Given the description of an element on the screen output the (x, y) to click on. 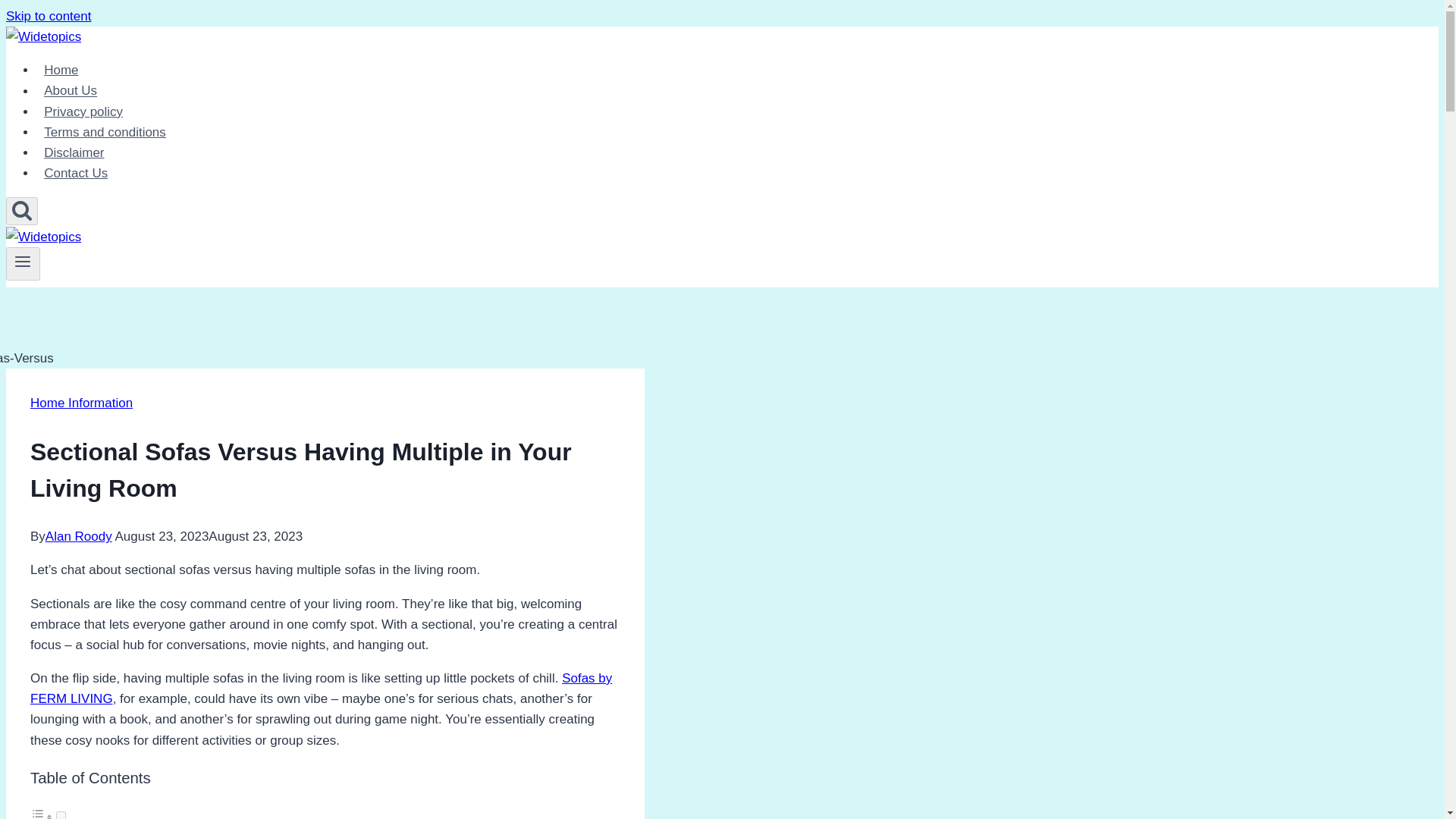
Terms and conditions (104, 132)
Home Information (81, 402)
Skip to content (47, 16)
Privacy policy (83, 111)
Home (60, 70)
Sofas by FERM LIVING (320, 687)
Alan Roody (78, 536)
Search (21, 209)
Toggle Menu (22, 263)
Disclaimer (74, 152)
on (60, 815)
About Us (70, 90)
Search (21, 211)
Toggle Menu (22, 261)
Skip to content (47, 16)
